Given the description of an element on the screen output the (x, y) to click on. 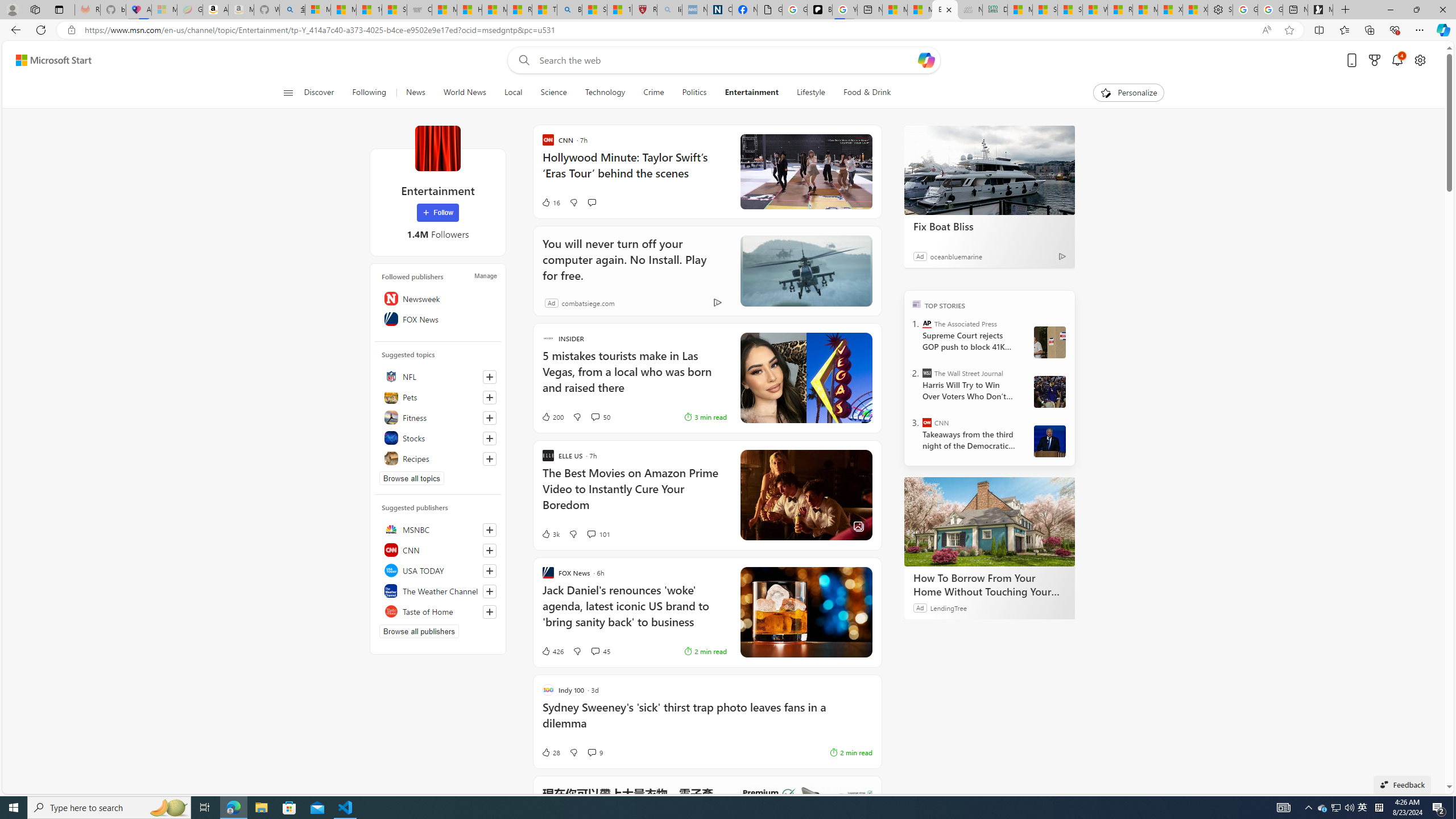
USA TODAY (437, 570)
NFL (437, 376)
Stocks - MSN (1069, 9)
Local (513, 92)
Taste of Home (437, 610)
Science - MSN (593, 9)
Open settings (1420, 60)
Navy Quest (969, 9)
